Given the description of an element on the screen output the (x, y) to click on. 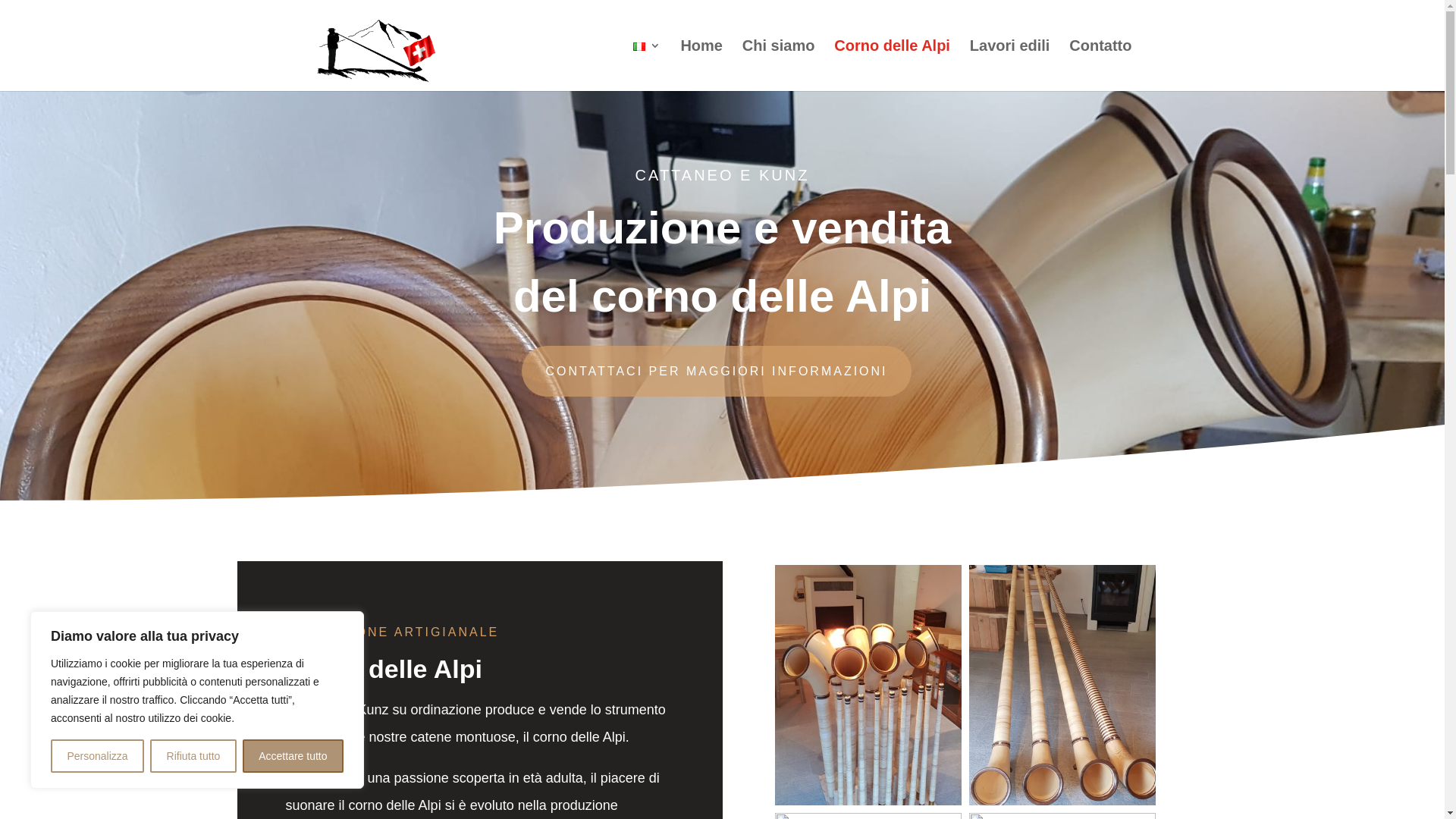
Personalizza Element type: text (97, 755)
Lavori edili Element type: text (1009, 65)
Chi siamo Element type: text (778, 65)
CONTATTACI PER MAGGIORI INFORMAZIONI Element type: text (715, 370)
Rifiuta tutto Element type: text (193, 755)
corno delle alpi Svizzera Element type: hover (868, 801)
Home Element type: text (701, 65)
20200422_154411 Element type: hover (1062, 801)
Corno delle Alpi Element type: text (892, 65)
Contatto Element type: text (1100, 65)
Accettare tutto Element type: text (292, 755)
